Given the description of an element on the screen output the (x, y) to click on. 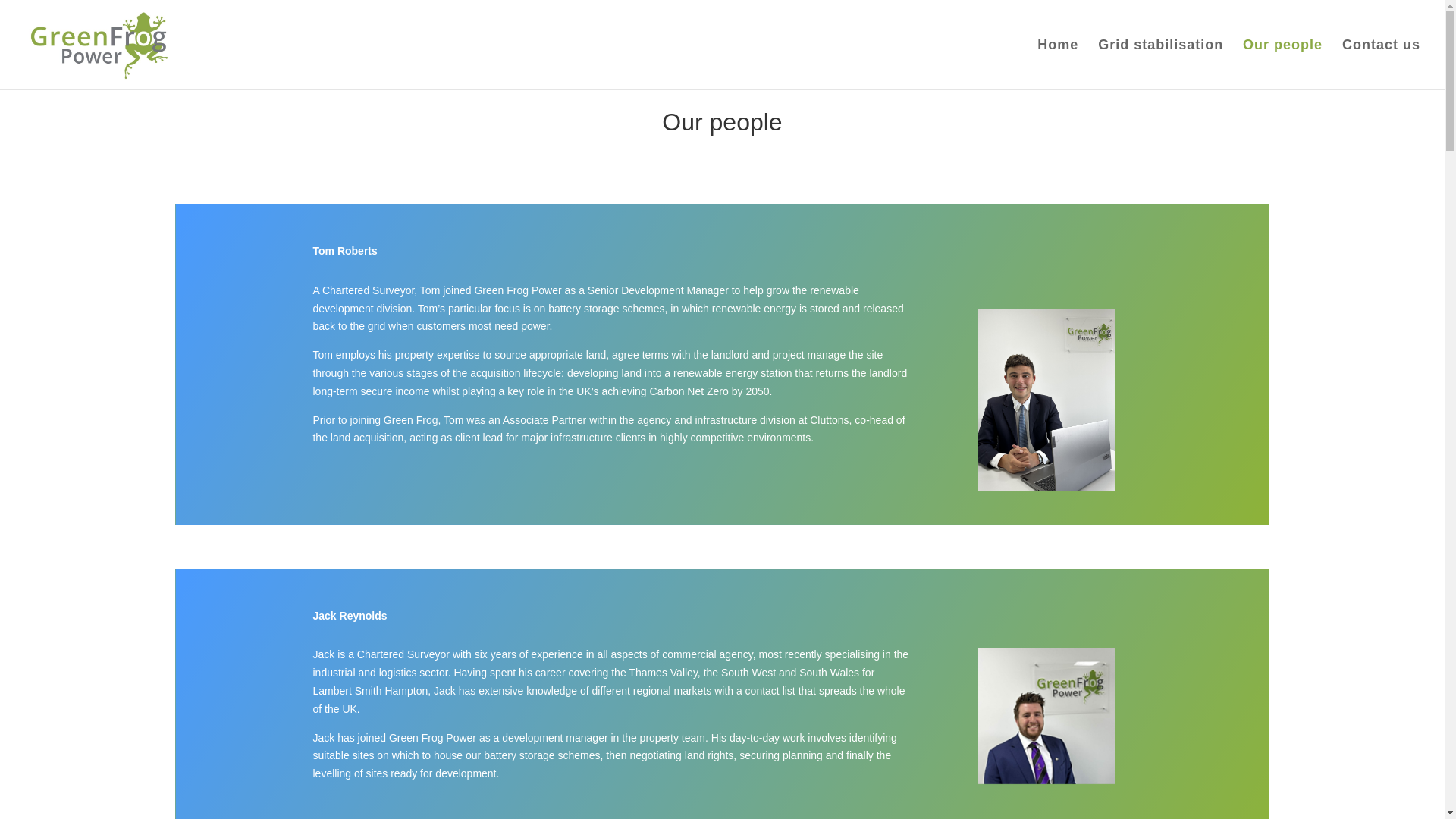
Grid stabilisation (1160, 64)
Our people (1282, 64)
Contact us (1381, 64)
